Given the description of an element on the screen output the (x, y) to click on. 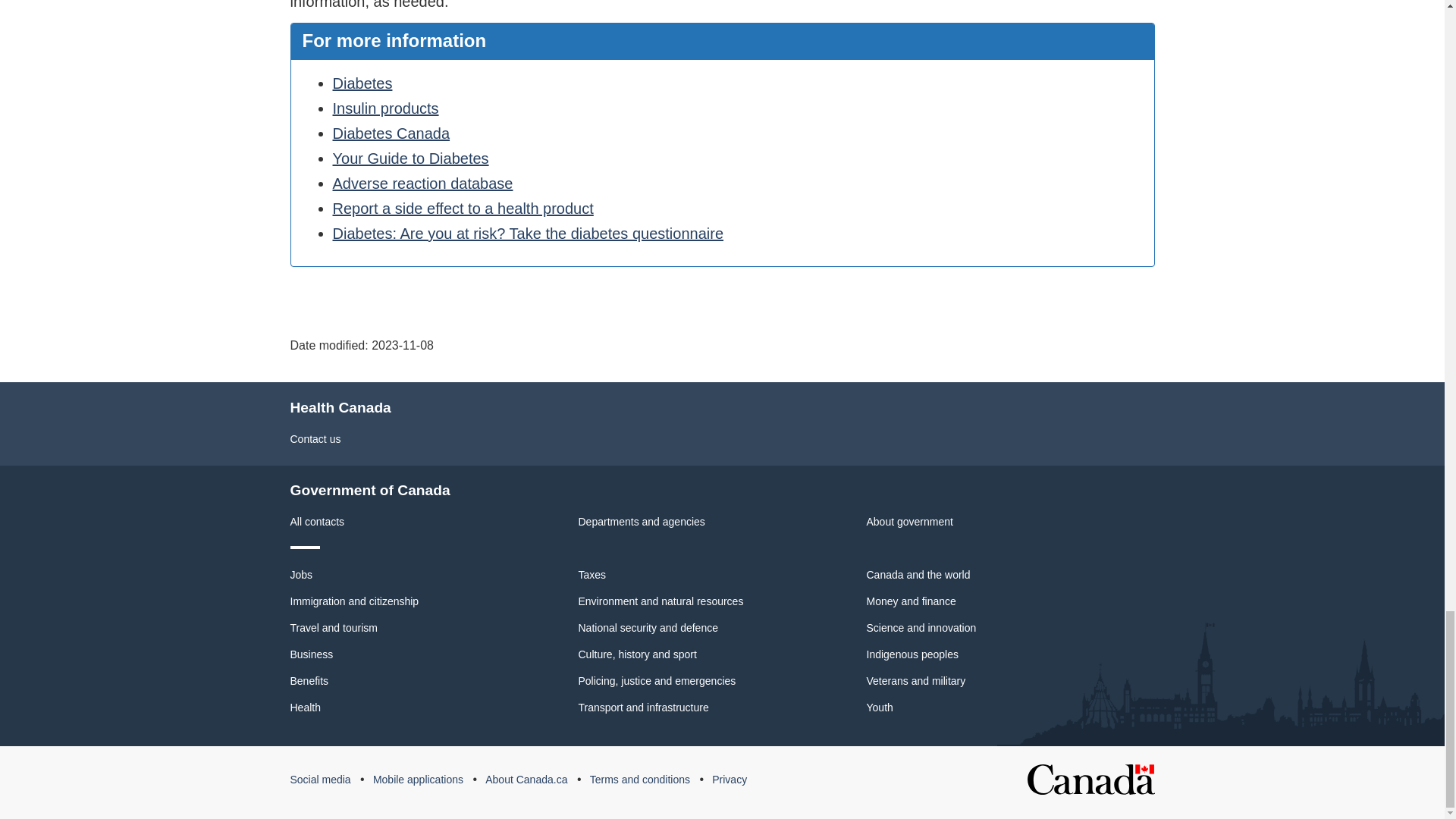
Report a side effect to a health product (461, 208)
All contacts (316, 521)
Your Guide to Diabetes (409, 158)
Diabetes: Are you at risk? Take the diabetes questionnaire (527, 233)
Diabetes (361, 83)
Adverse reaction database (421, 183)
Insulin products (384, 108)
Diabetes Canada (390, 133)
Contact us (314, 439)
